Given the description of an element on the screen output the (x, y) to click on. 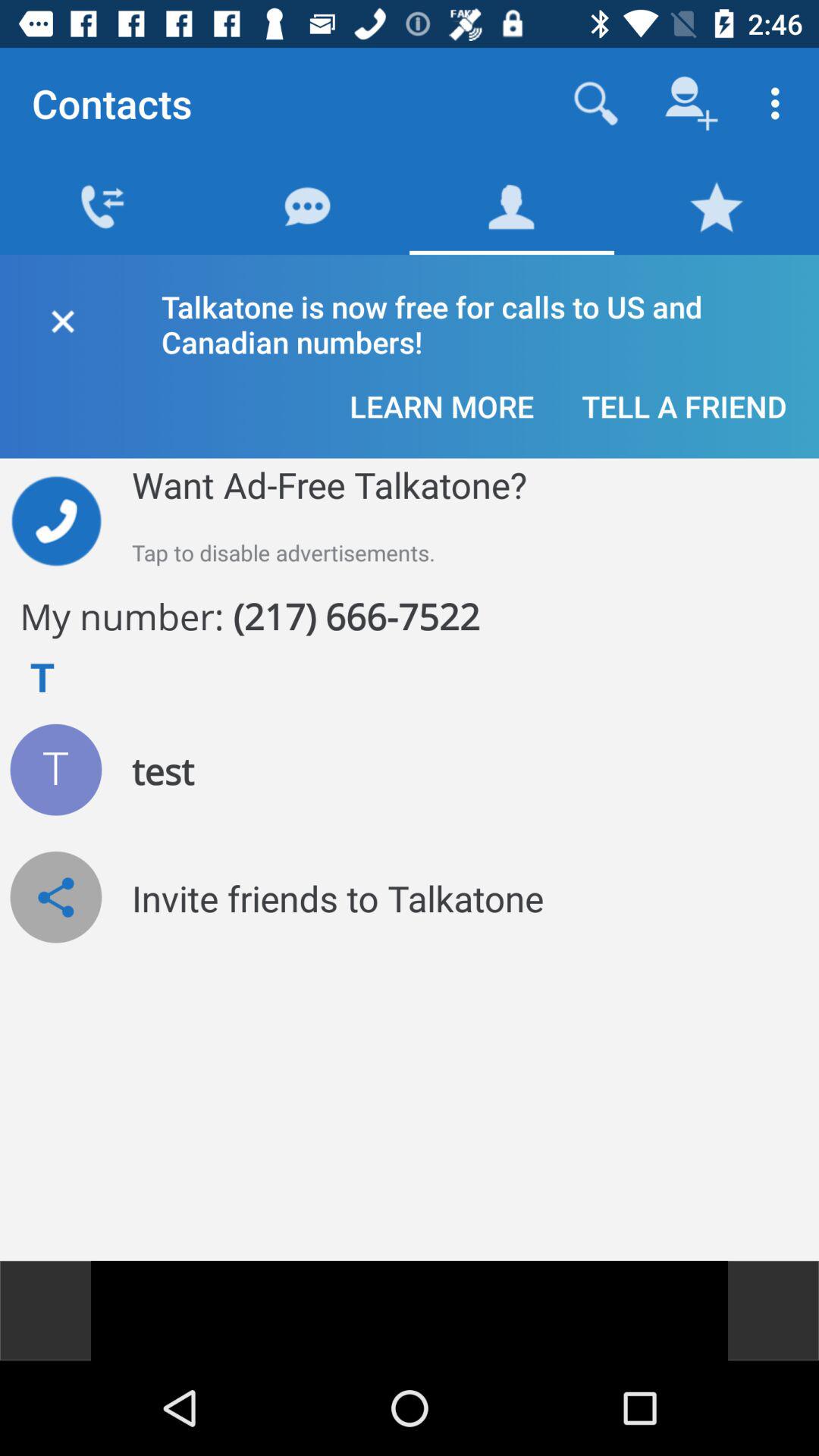
click to close icon (62, 318)
